Given the description of an element on the screen output the (x, y) to click on. 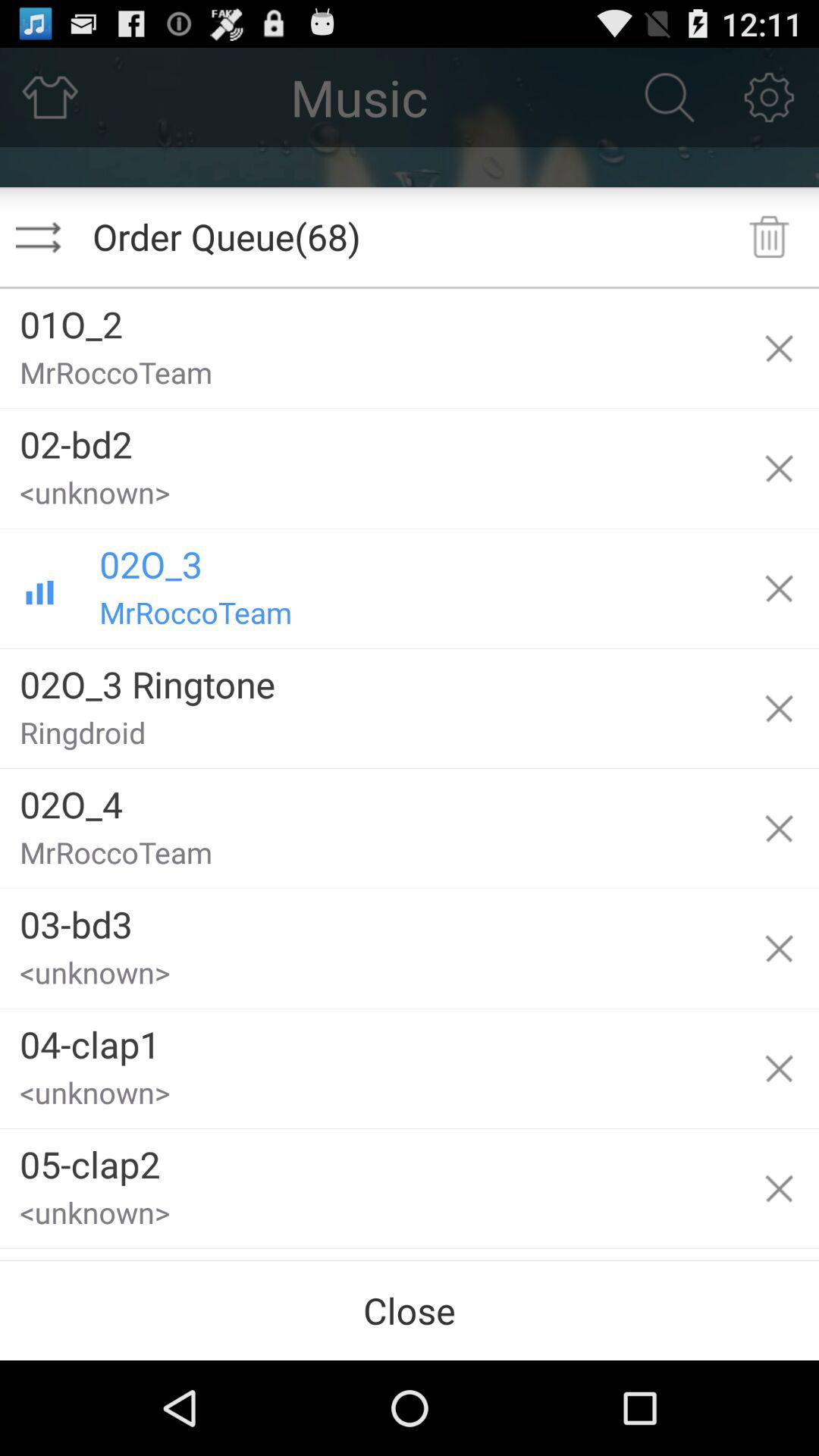
launch the item below 06-crash1 (409, 1310)
